Given the description of an element on the screen output the (x, y) to click on. 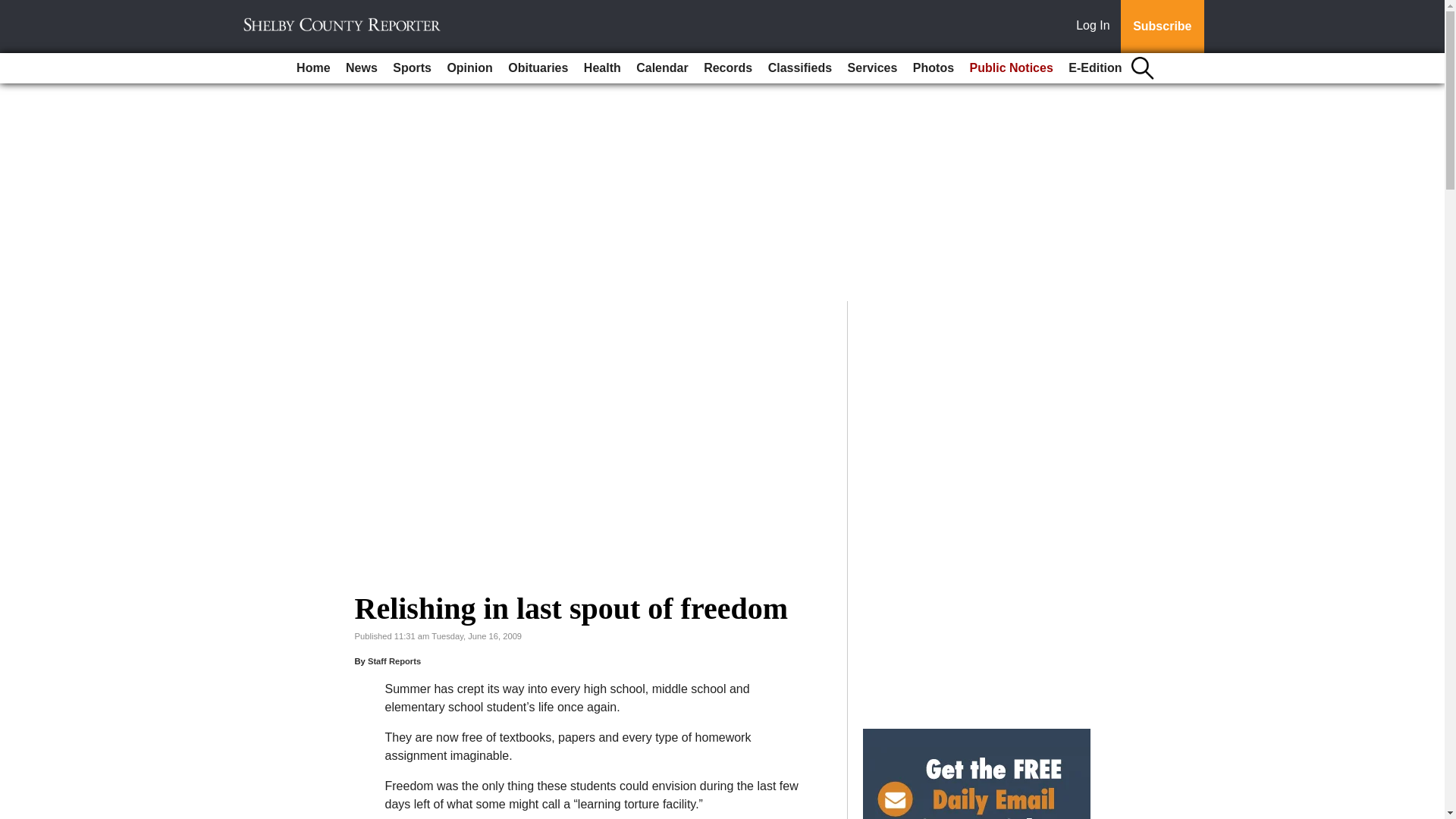
Sports (412, 68)
Classifieds (799, 68)
Health (602, 68)
Subscribe (1162, 26)
Records (727, 68)
Opinion (469, 68)
Obituaries (537, 68)
Services (872, 68)
Home (312, 68)
Calendar (662, 68)
Log In (1095, 26)
News (361, 68)
